Given the description of an element on the screen output the (x, y) to click on. 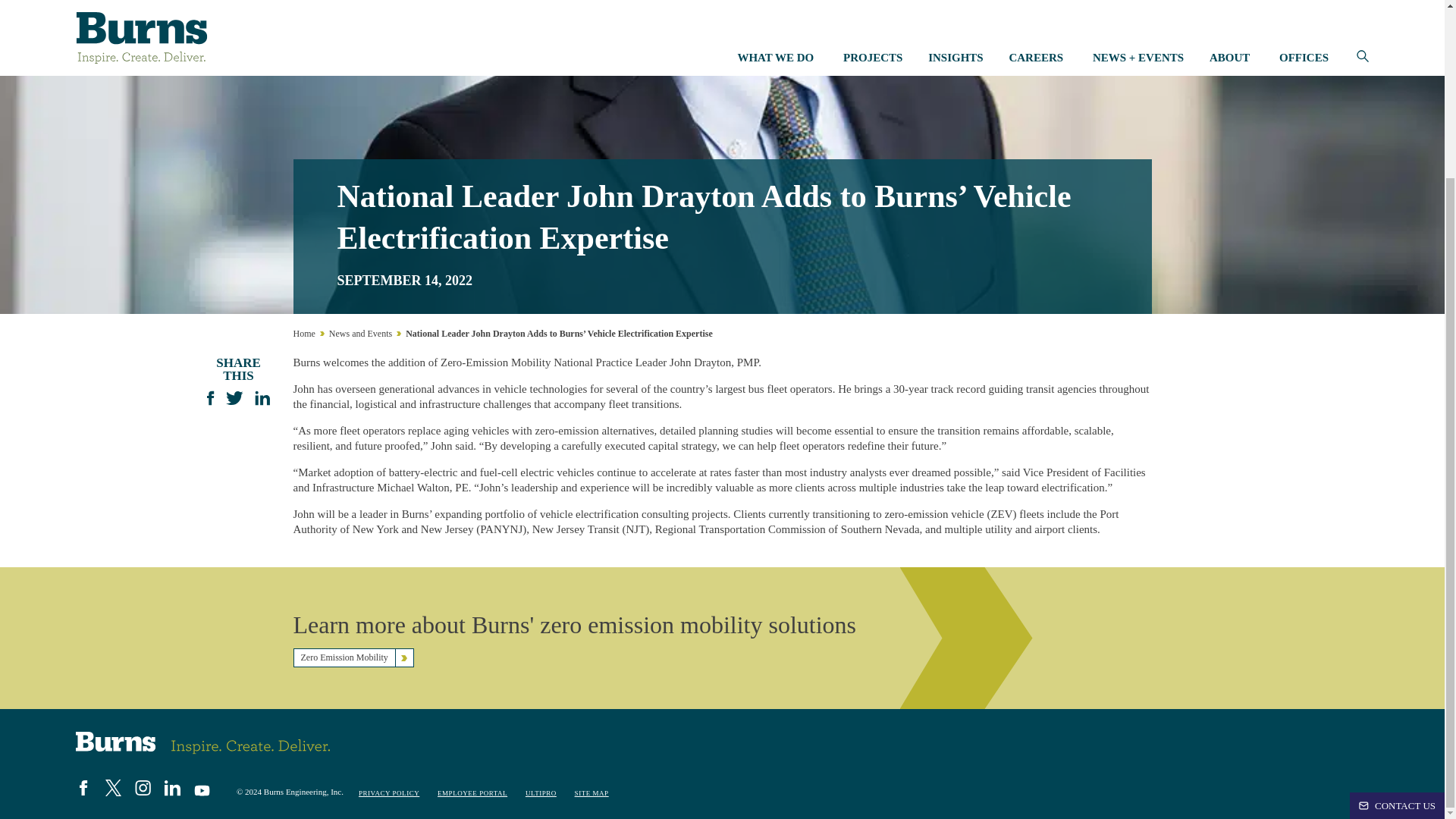
Go to News and Events. (360, 333)
Go to Burns Engineering. (303, 333)
